Given the description of an element on the screen output the (x, y) to click on. 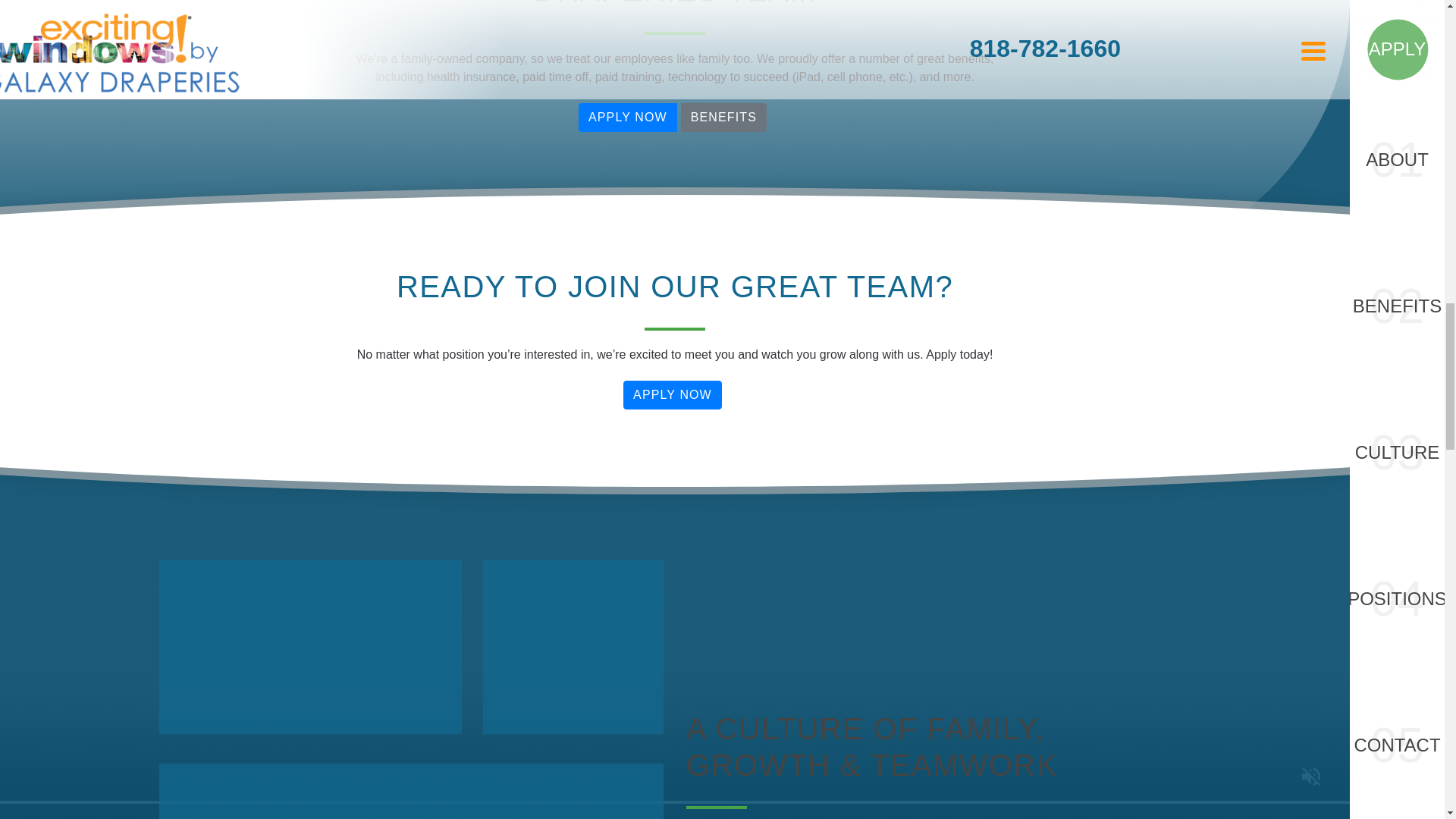
BENEFITS (724, 117)
APPLY NOW (627, 117)
APPLY NOW (672, 394)
